Given the description of an element on the screen output the (x, y) to click on. 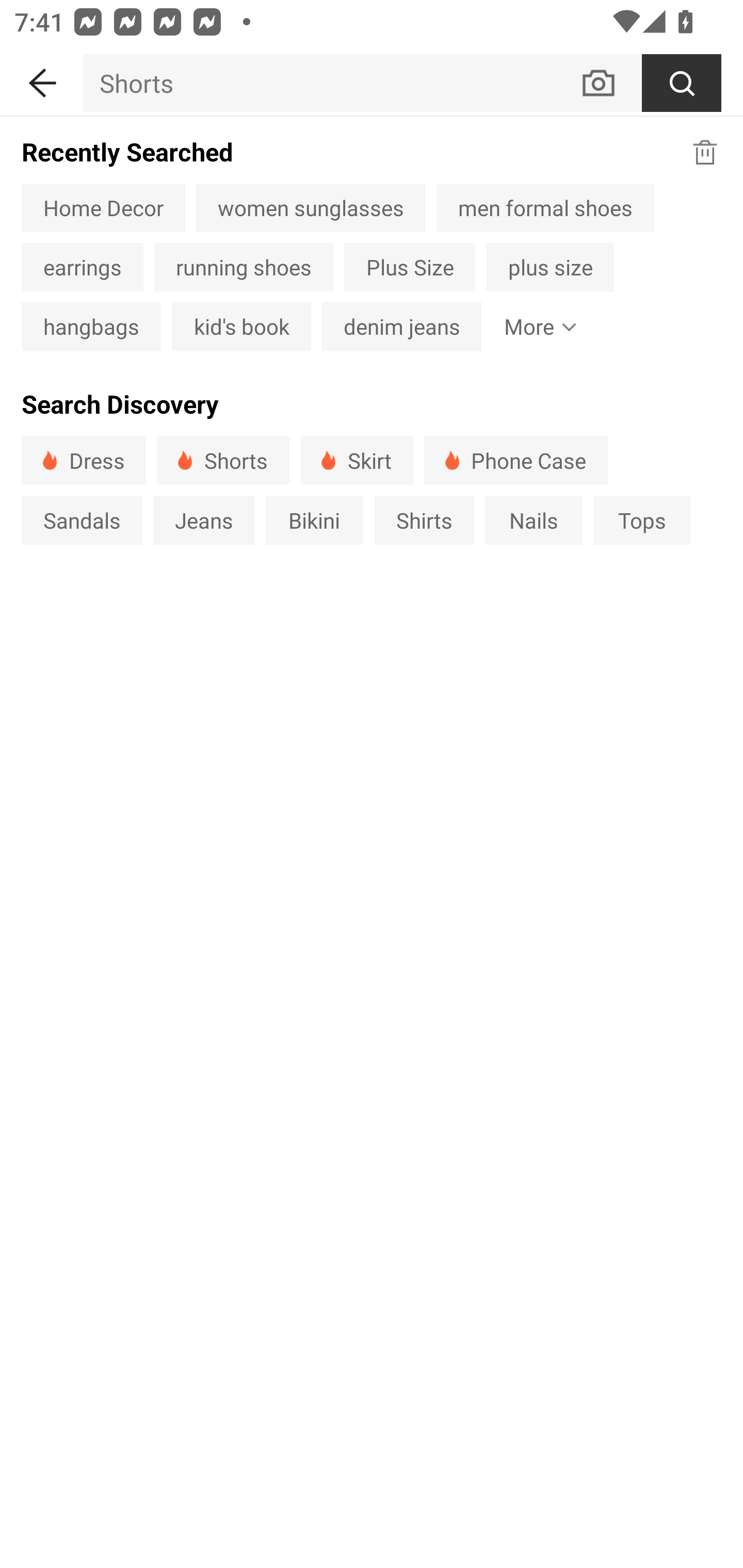
BACK (41, 79)
Shorts (330, 82)
Home Decor (103, 207)
women sunglasses (310, 207)
men formal shoes (545, 207)
earrings (82, 267)
running shoes (243, 267)
Plus Size (409, 267)
plus size (549, 267)
hangbags (91, 326)
kid's book (241, 326)
denim jeans (401, 326)
More Show More (536, 326)
Dress (83, 459)
Shorts (222, 459)
Skirt (356, 459)
Phone Case (515, 459)
Sandals (81, 519)
Jeans (203, 519)
Bikini (314, 519)
Shirts (423, 519)
Nails (533, 519)
Tops (641, 519)
